Given the description of an element on the screen output the (x, y) to click on. 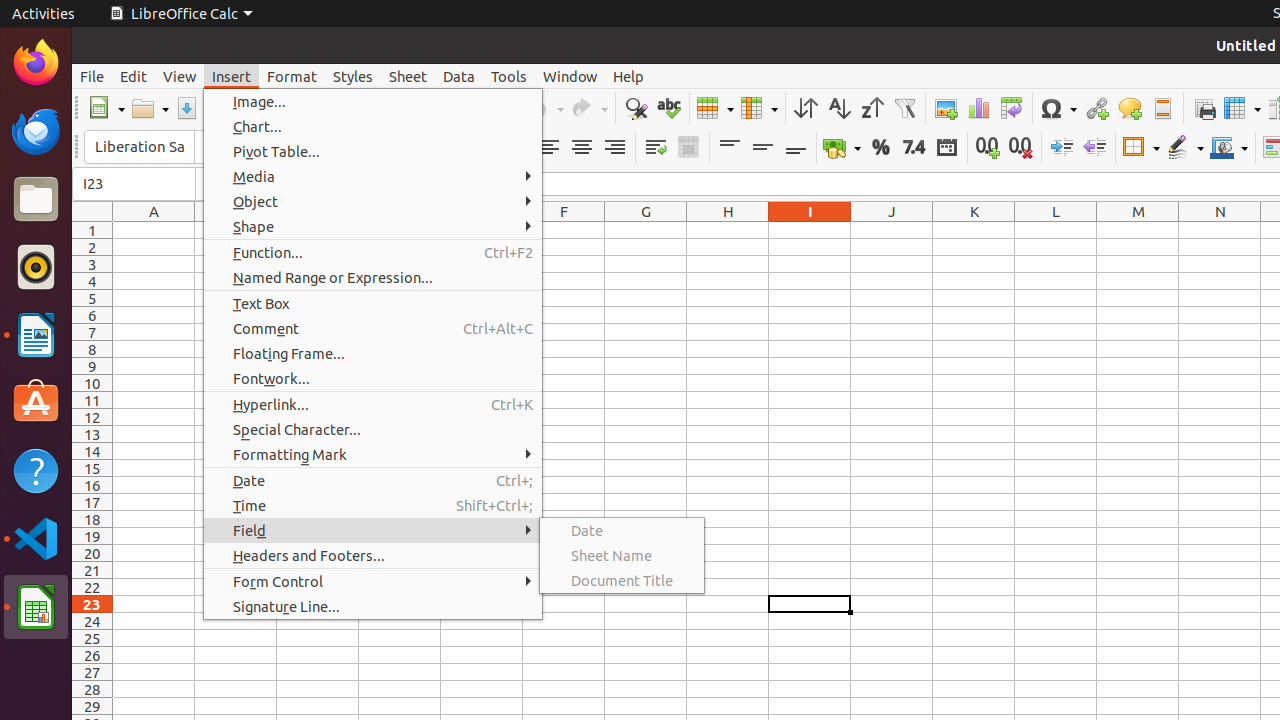
Comment Element type: menu-item (373, 328)
File Element type: menu (92, 76)
Wrap Text Element type: push-button (655, 147)
Sheet Name Element type: menu-item (622, 555)
Headers and Footers Element type: push-button (1162, 108)
